Given the description of an element on the screen output the (x, y) to click on. 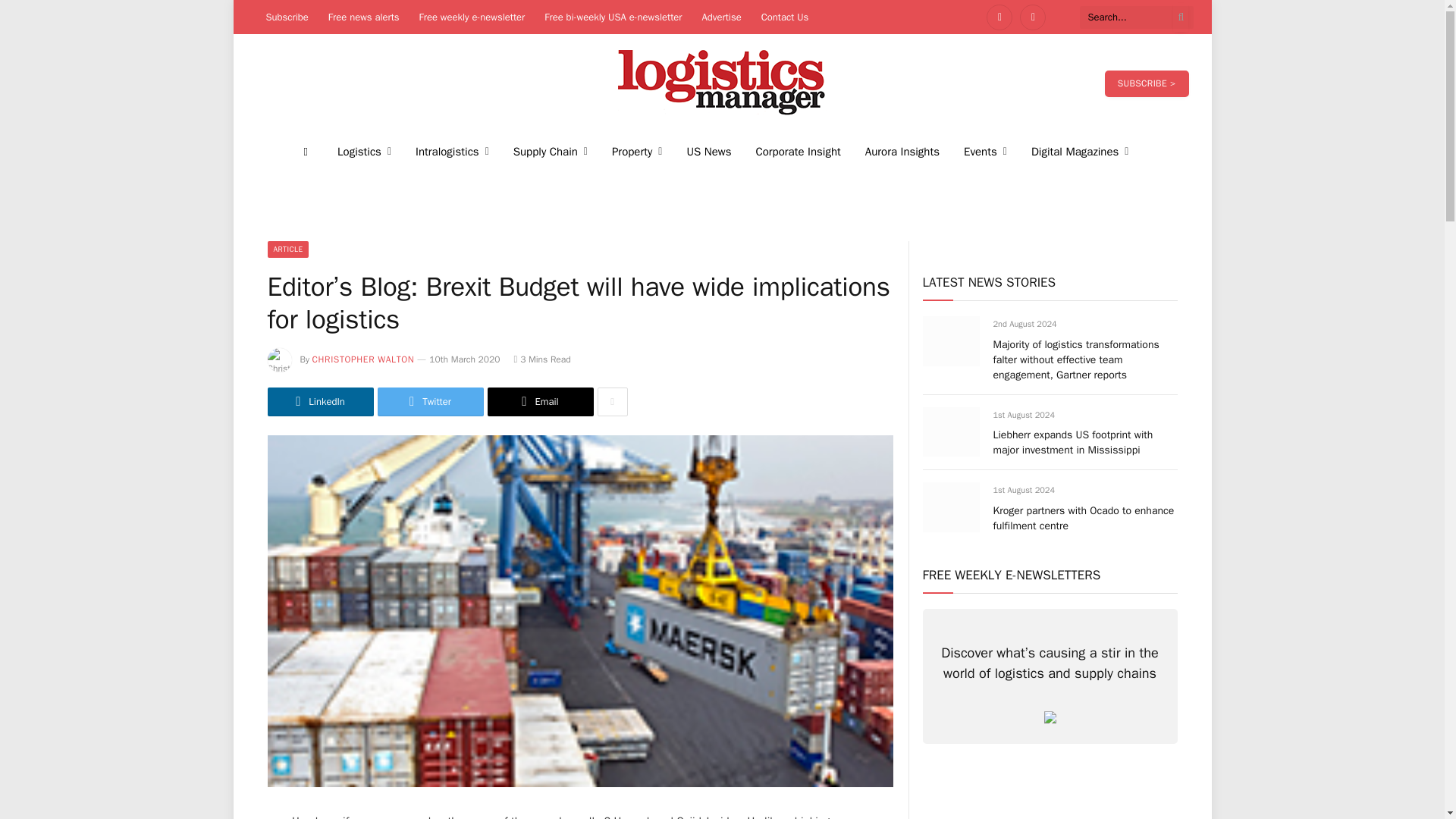
Logistics Manager (722, 83)
Show More Social Sharing (611, 401)
Share via Email (539, 401)
Share on LinkedIn (319, 401)
Posts by Christopher Walton (363, 358)
